Given the description of an element on the screen output the (x, y) to click on. 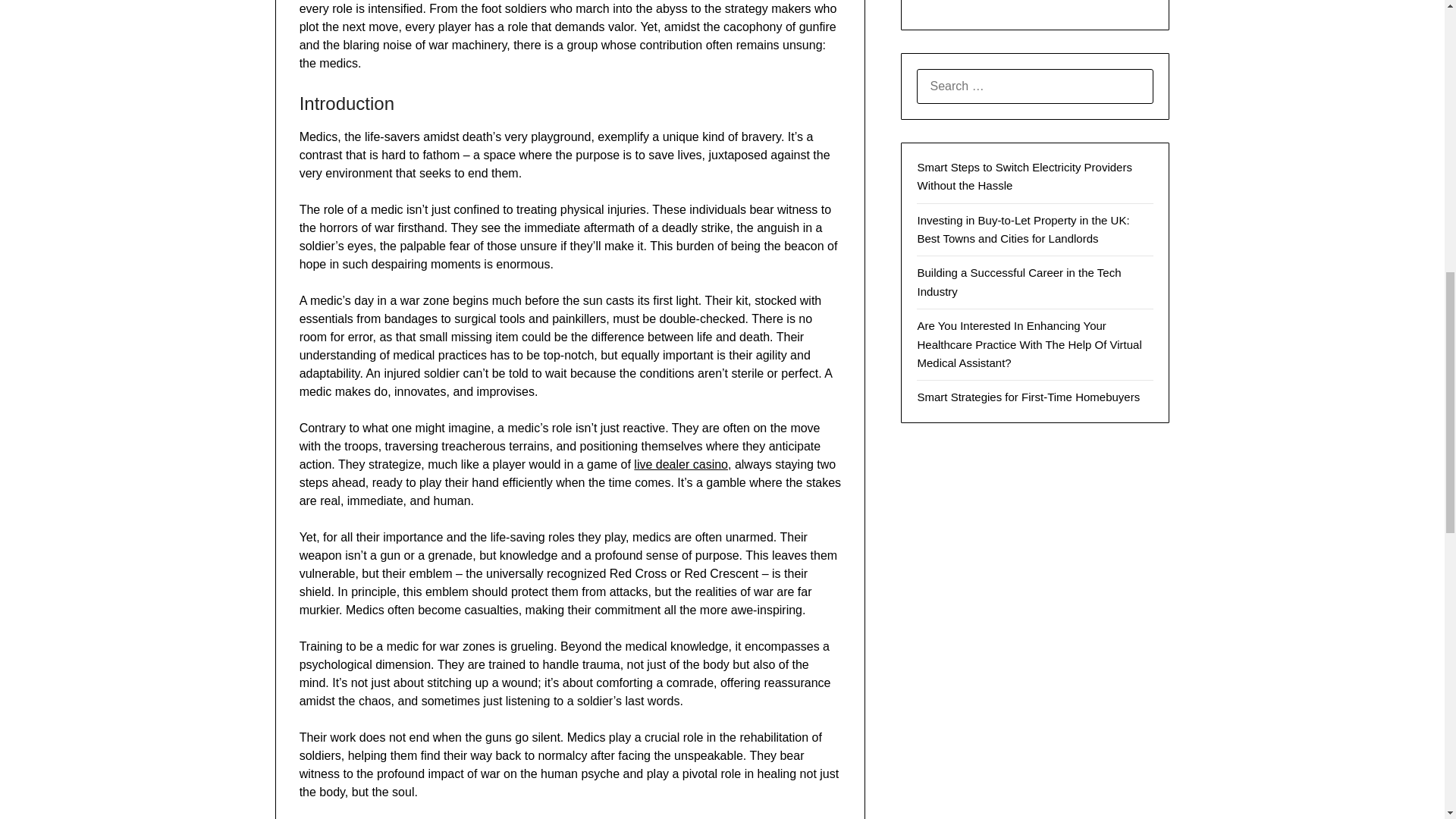
live dealer casino (680, 463)
Building a Successful Career in the Tech Industry (1019, 281)
Smart Strategies for First-Time Homebuyers (1028, 396)
